Given the description of an element on the screen output the (x, y) to click on. 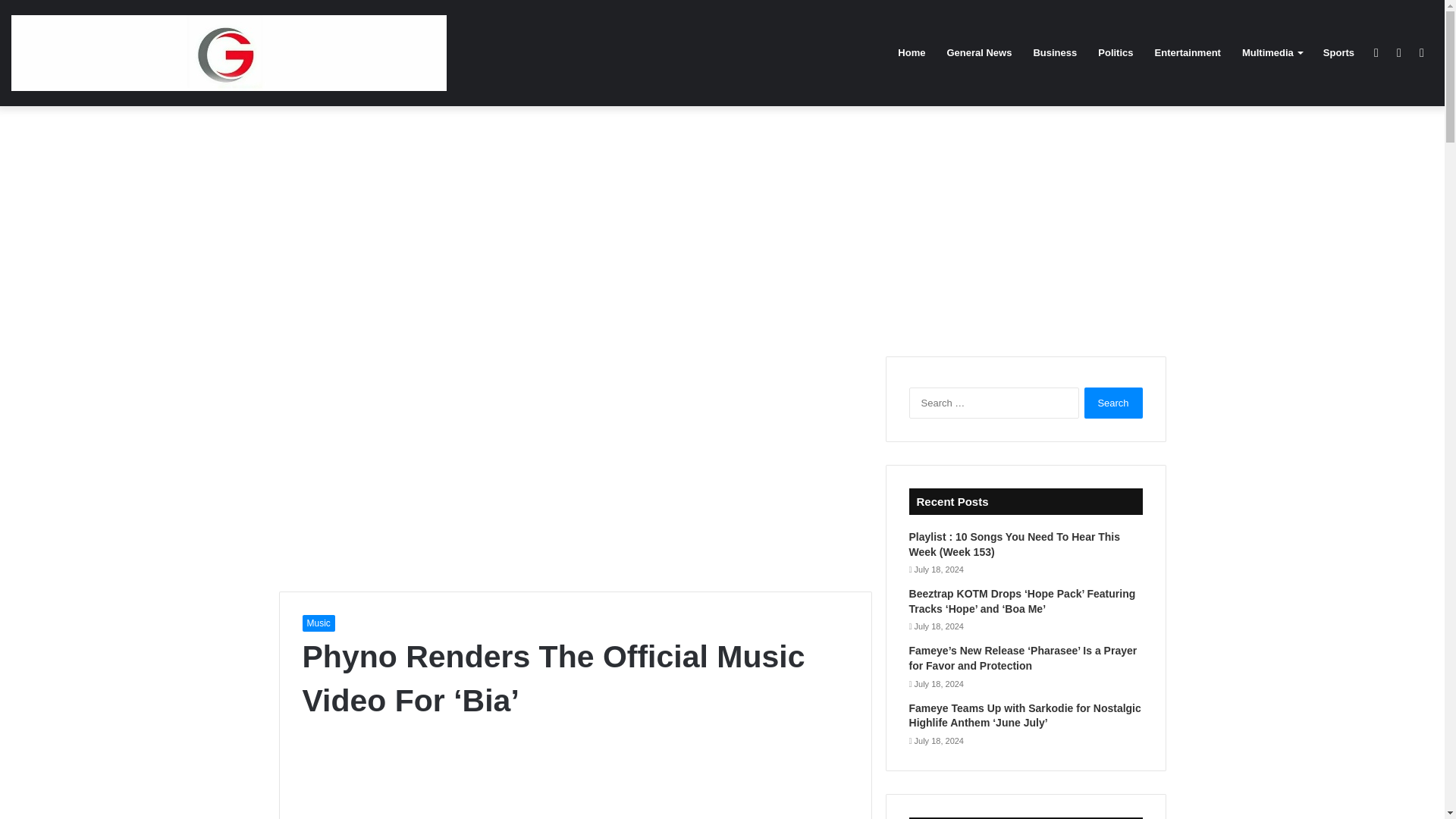
Advertisement (575, 462)
Clickongh (228, 52)
Search (1113, 402)
Music (317, 623)
Search (1113, 402)
Advertisement (574, 784)
